Given the description of an element on the screen output the (x, y) to click on. 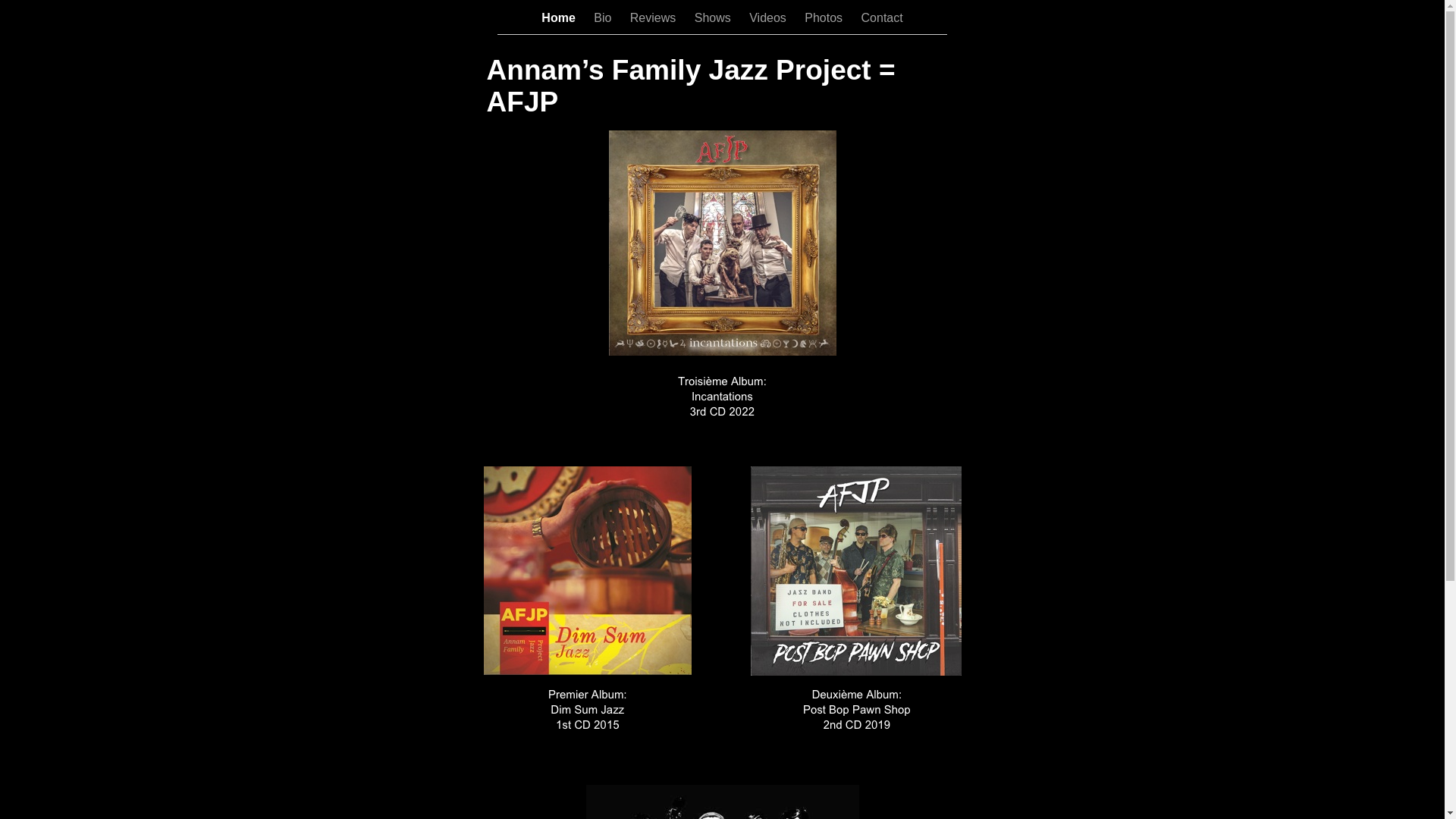
Bio Element type: text (604, 17)
Videos Element type: text (769, 17)
Photos Element type: text (824, 17)
Home Element type: text (559, 17)
Shows Element type: text (714, 17)
Reviews Element type: text (654, 17)
Contact Element type: text (882, 17)
